Given the description of an element on the screen output the (x, y) to click on. 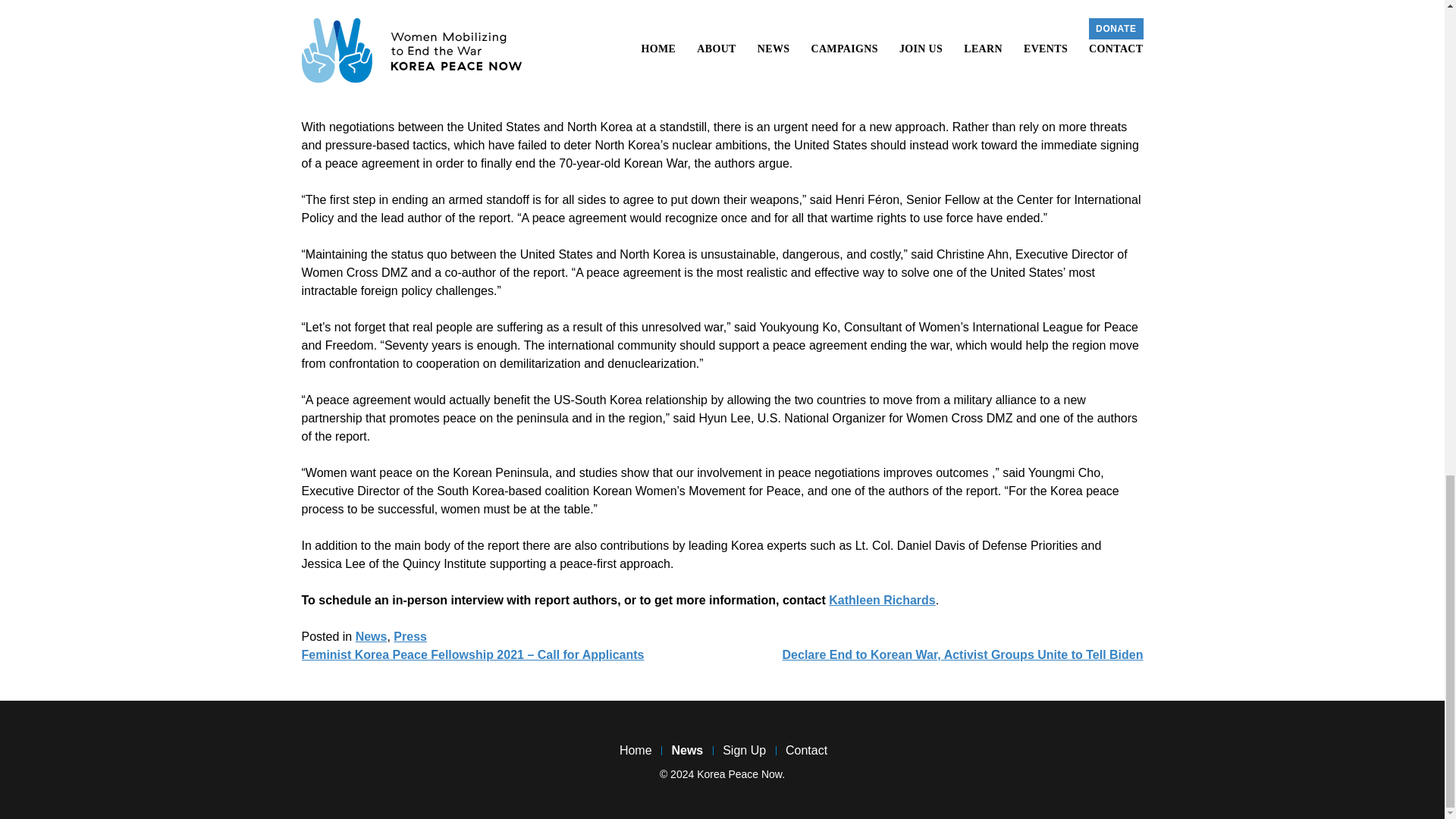
Contact (805, 749)
Kathleen Richards (881, 599)
Sign Up (743, 749)
News (371, 635)
Home (634, 749)
Press (409, 635)
News (685, 749)
